Given the description of an element on the screen output the (x, y) to click on. 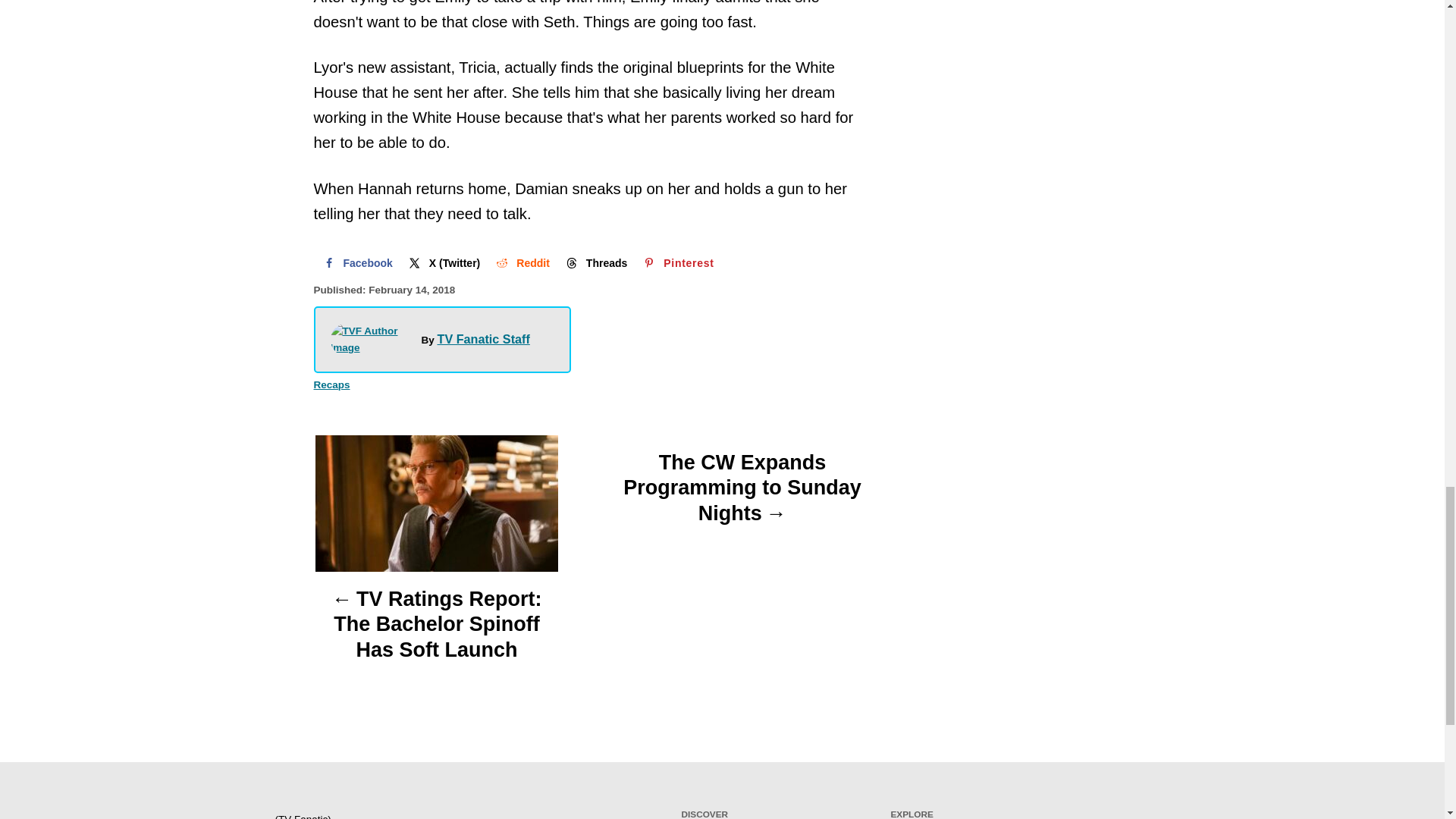
Share on Facebook (356, 263)
Share on Reddit (521, 263)
Share on X (442, 263)
Save to Pinterest (676, 263)
Share on Threads (594, 263)
